Given the description of an element on the screen output the (x, y) to click on. 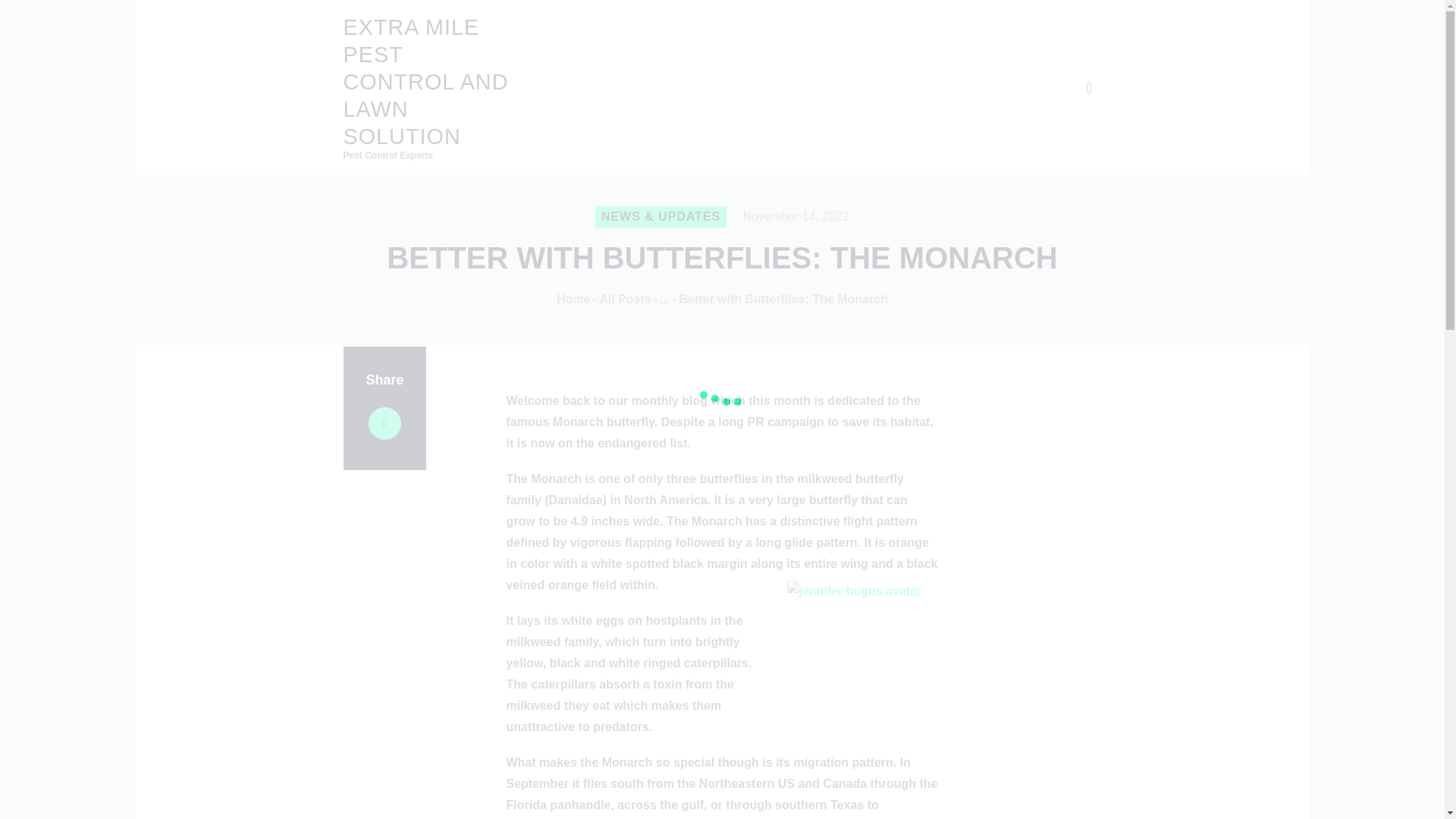
All Posts (624, 298)
Home (572, 298)
